Given the description of an element on the screen output the (x, y) to click on. 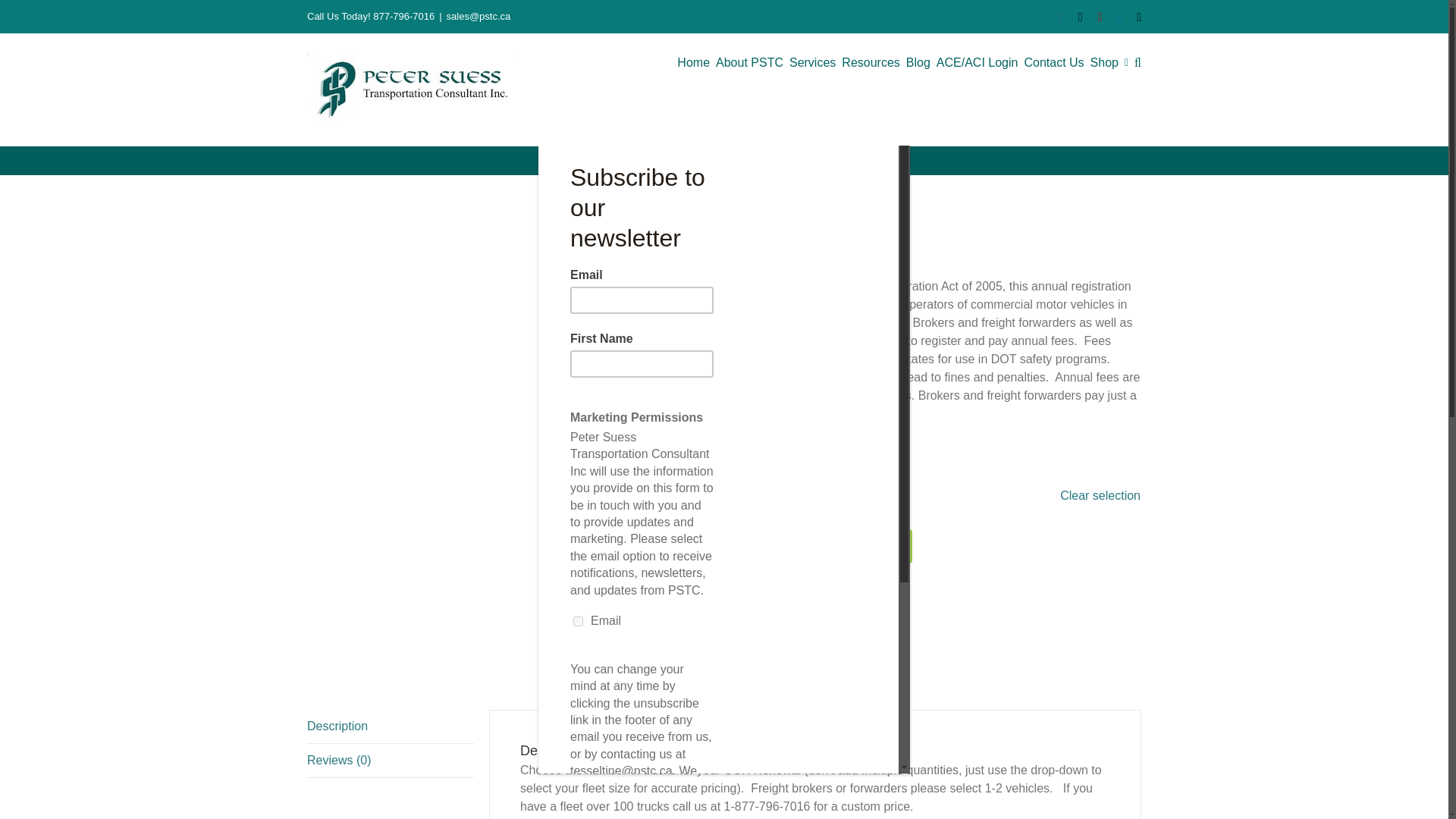
Home (693, 62)
Resources (870, 62)
Contact Us (1053, 62)
1 (750, 545)
Services (812, 62)
Shop (1104, 62)
About PSTC (749, 62)
Blog (917, 62)
